Given the description of an element on the screen output the (x, y) to click on. 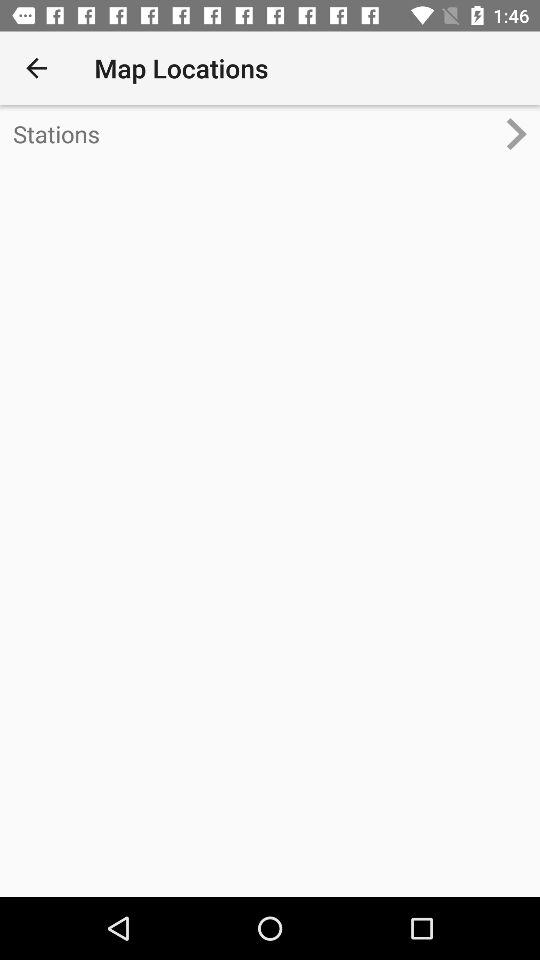
click icon next to the map locations item (36, 68)
